Given the description of an element on the screen output the (x, y) to click on. 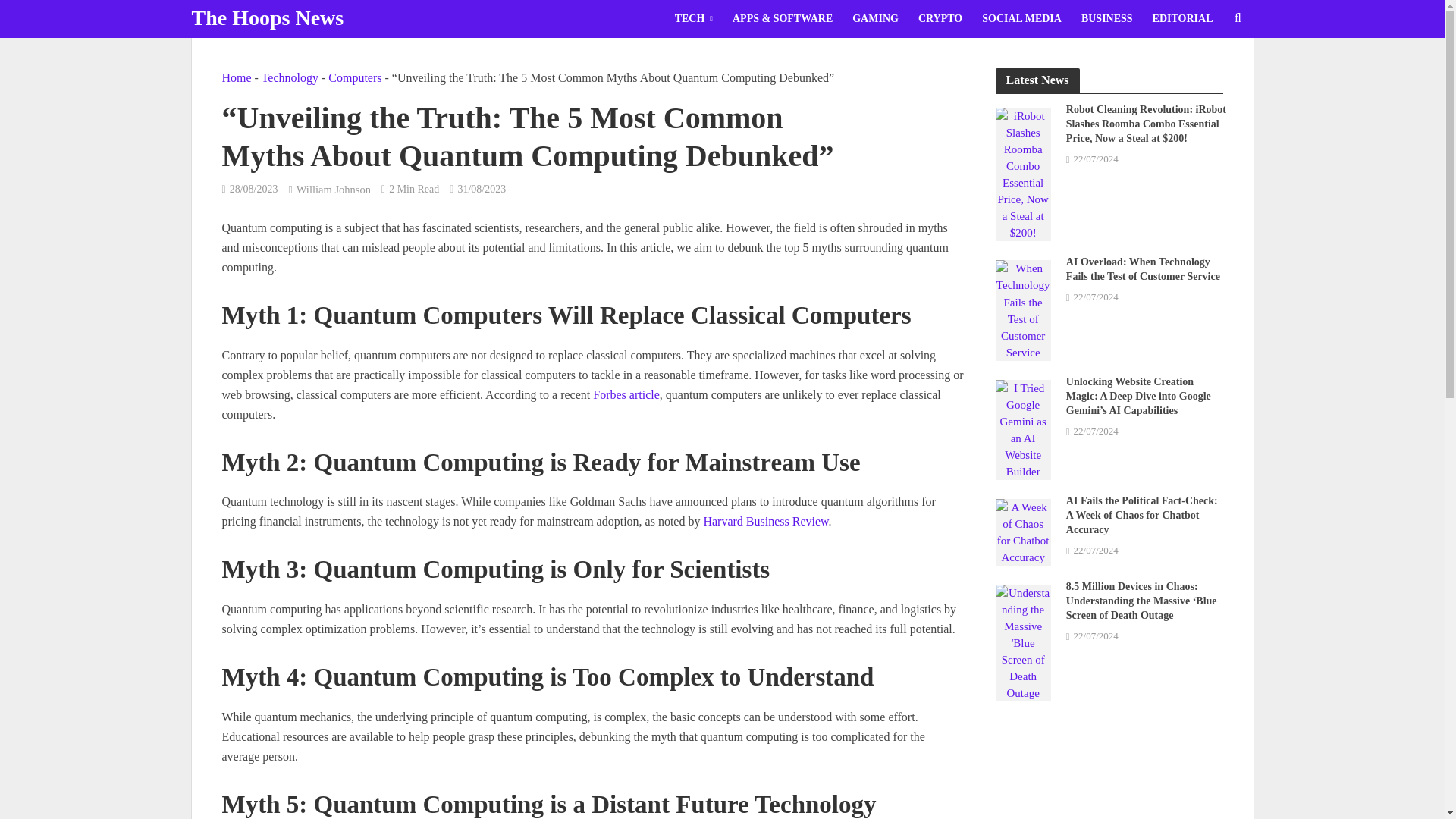
Computers (355, 77)
GAMING (875, 18)
Technology (290, 77)
Home (235, 77)
TECH (693, 18)
BUSINESS (1106, 18)
SOCIAL MEDIA (1021, 18)
EDITORIAL (1182, 18)
Harvard Business Review (765, 521)
William Johnson (334, 191)
The Hoops News (266, 17)
Forbes article (625, 394)
CRYPTO (940, 18)
